Given the description of an element on the screen output the (x, y) to click on. 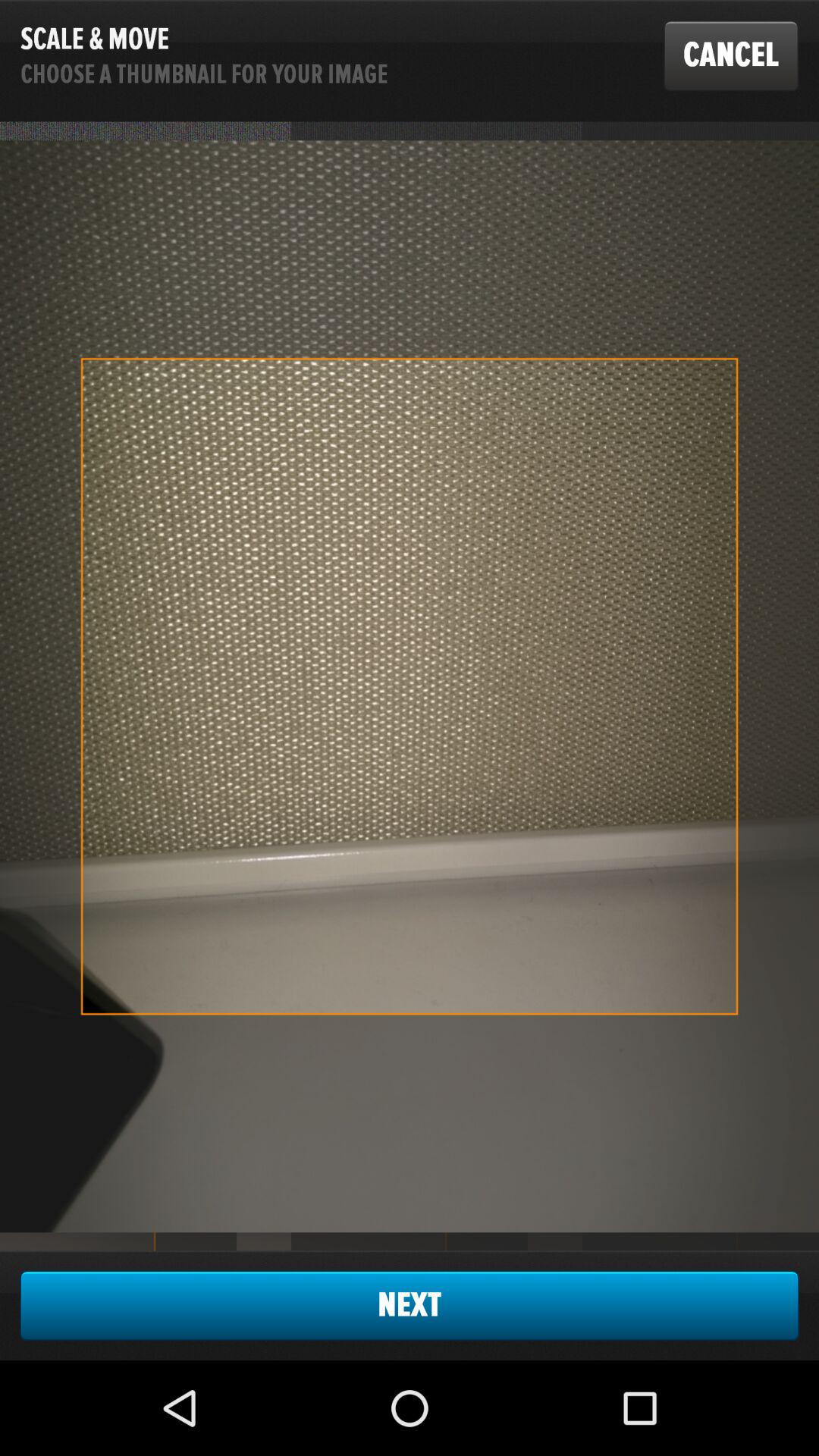
press icon to the right of the choose a thumbnail icon (730, 55)
